Given the description of an element on the screen output the (x, y) to click on. 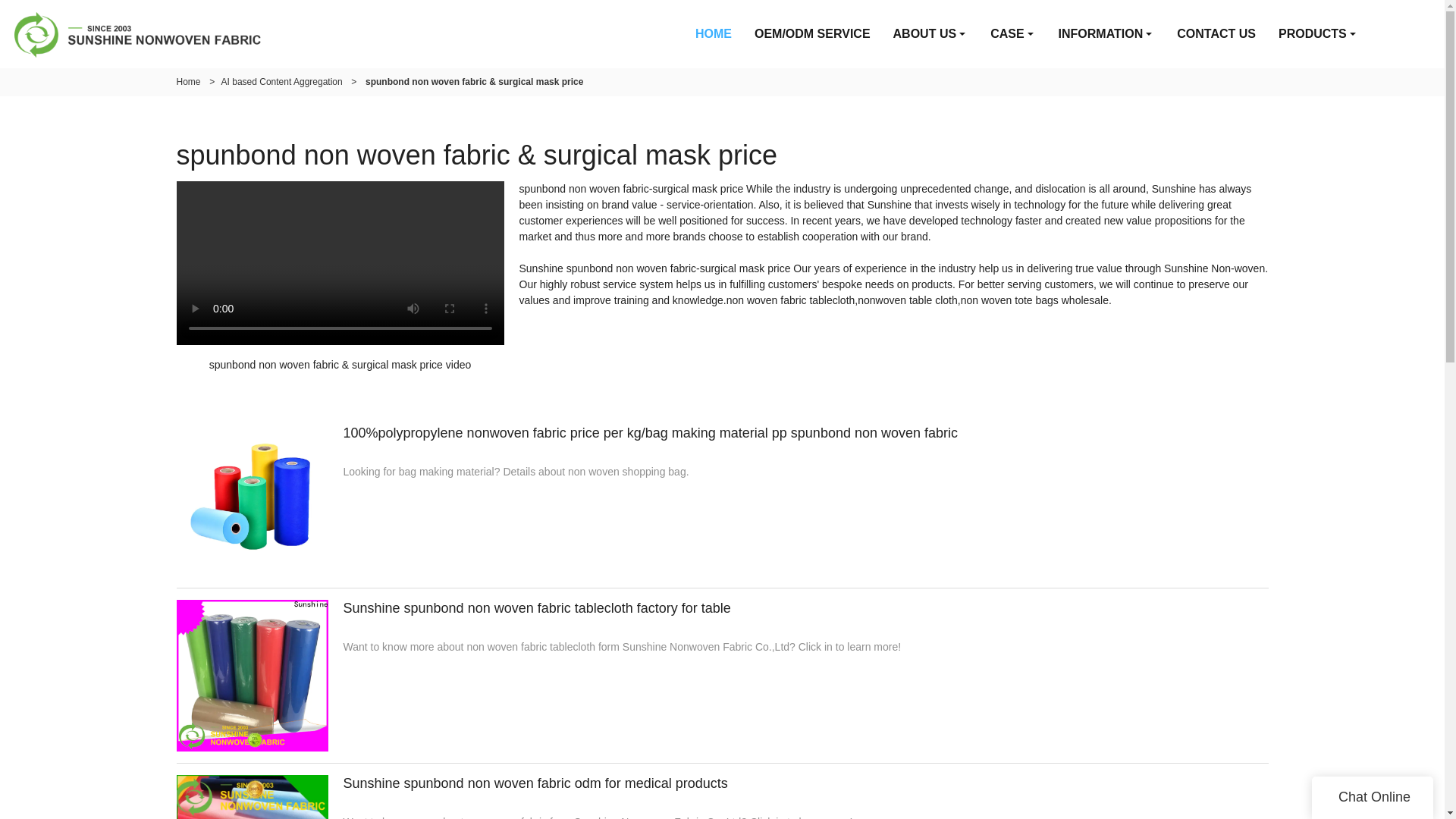
CASE (1012, 33)
PRODUCTS (1318, 33)
HOME (713, 33)
ABOUT US (930, 33)
CONTACT US (1216, 33)
INFORMATION (1106, 33)
